Given the description of an element on the screen output the (x, y) to click on. 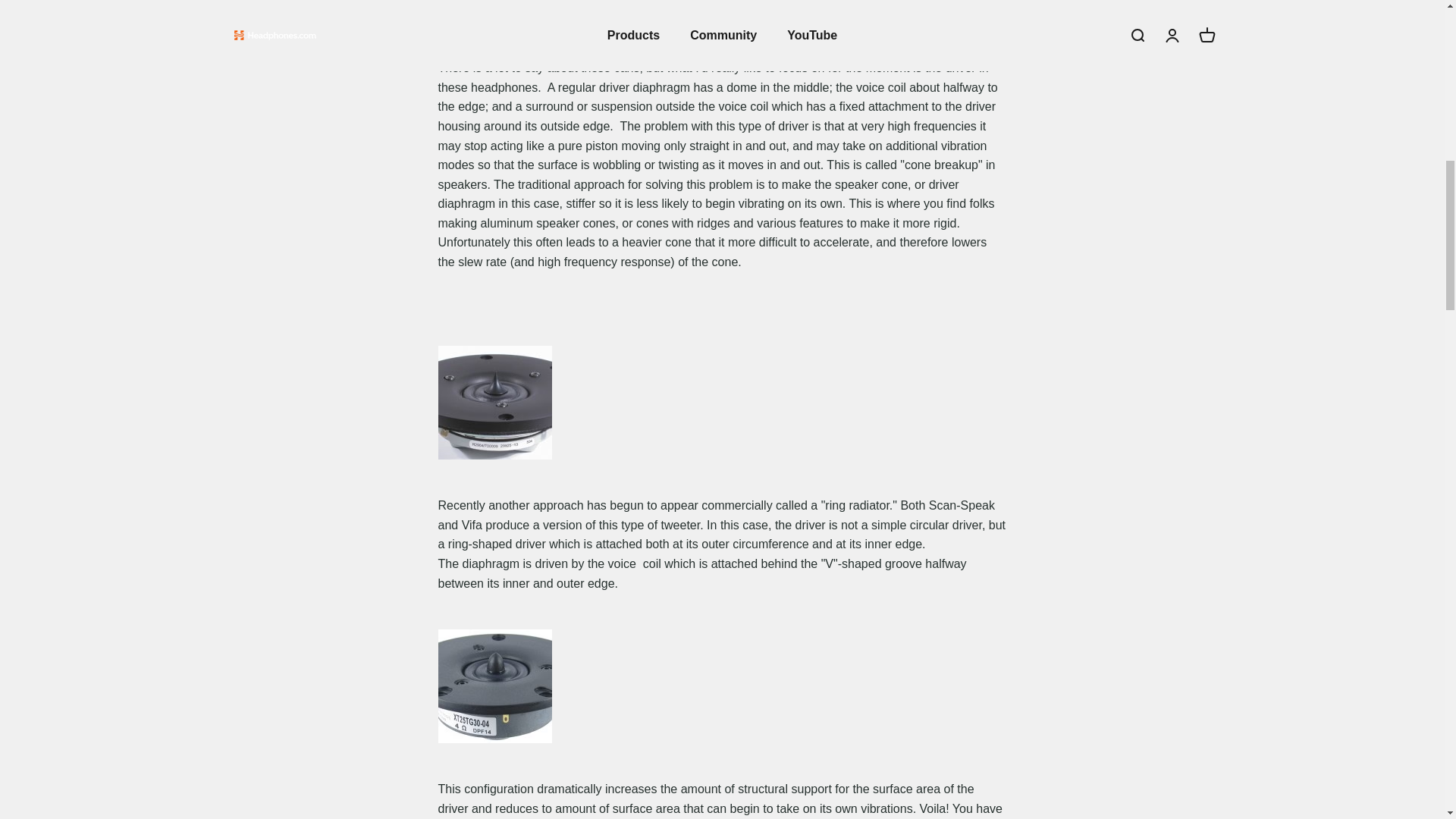
vifa-ring-radiator (494, 685)
scan-speak (494, 402)
